Given the description of an element on the screen output the (x, y) to click on. 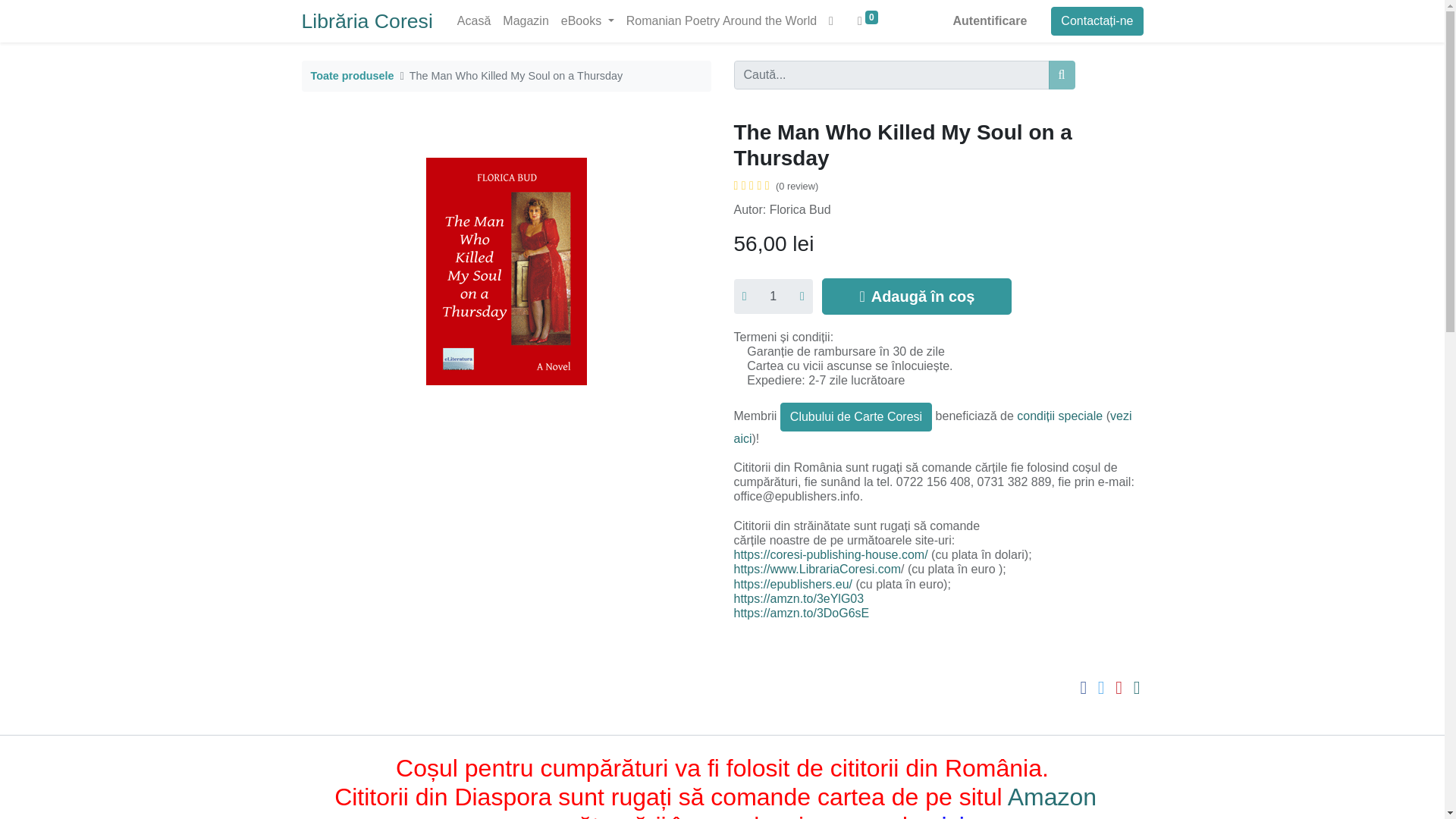
vezi aici (932, 427)
0 (867, 20)
Magazin (525, 20)
Toate produsele (352, 75)
Amazon (1055, 796)
eBooks (587, 20)
Clubului de Carte Coresi (855, 416)
Autentificare (990, 20)
1 (773, 296)
Romanian Poetry Around the World (721, 20)
